Given the description of an element on the screen output the (x, y) to click on. 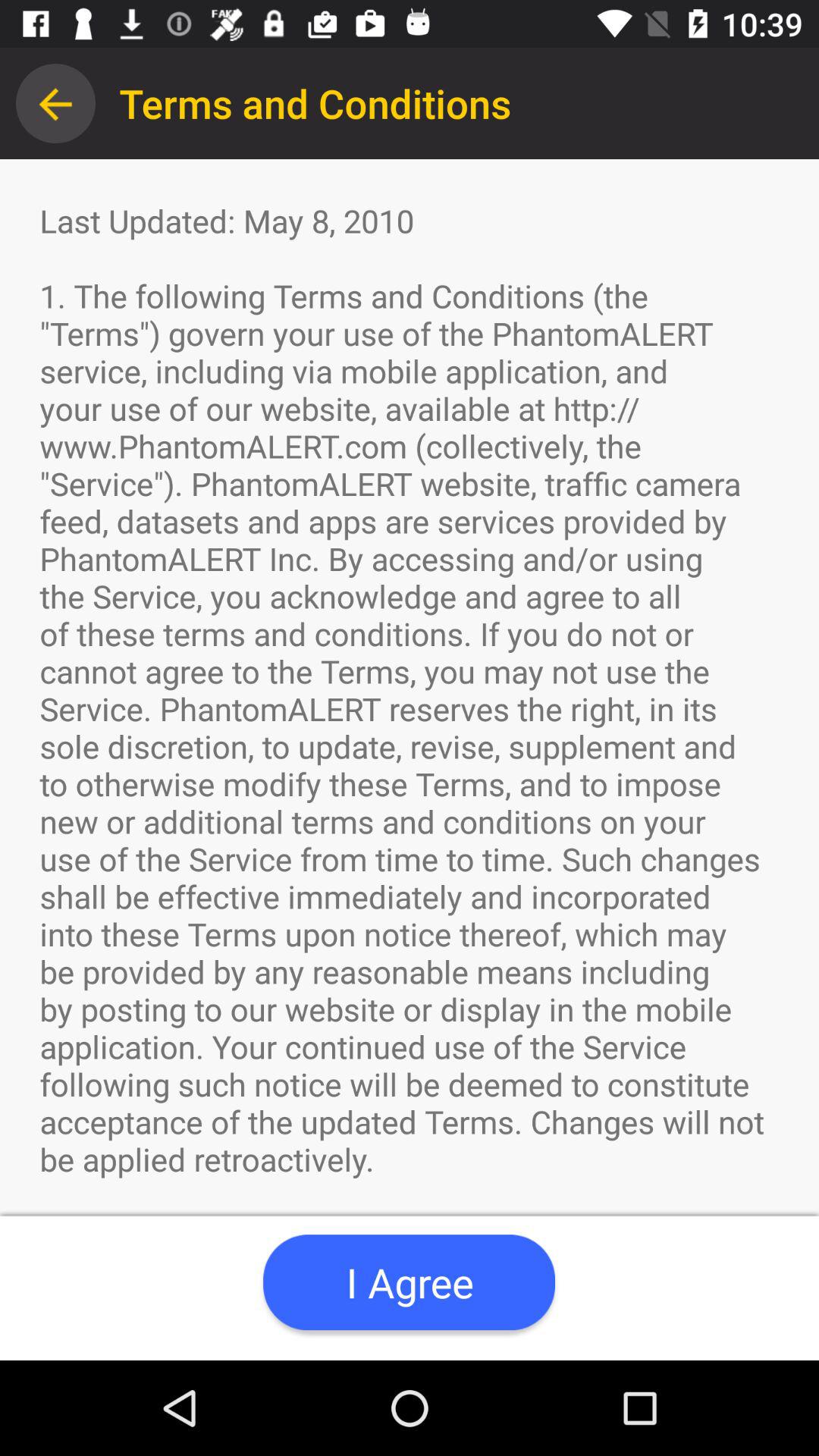
select app at the center (409, 759)
